Given the description of an element on the screen output the (x, y) to click on. 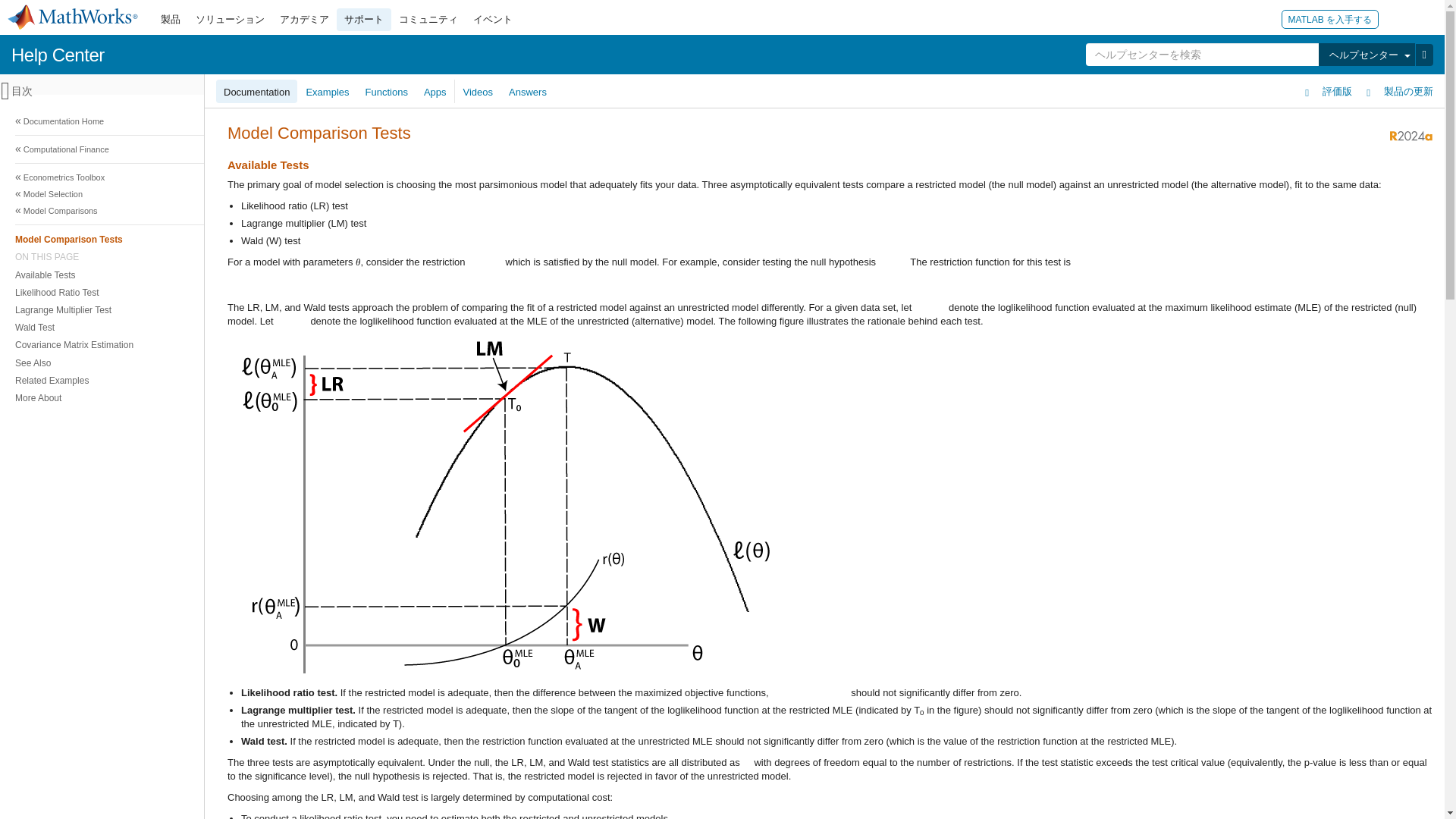
Documentation Home (720, 121)
Model Comparison Tests (718, 239)
Computational Finance (720, 149)
Lagrange Multiplier Test (718, 309)
Model Comparison Tests (720, 239)
Off-Canvas Navigation Menu Toggle (5, 91)
Available Tests (718, 274)
Econometrics Toolbox (720, 176)
Help Center (57, 54)
Model Selection (720, 193)
Model Comparisons (720, 210)
Likelihood Ratio Test (718, 292)
